Given the description of an element on the screen output the (x, y) to click on. 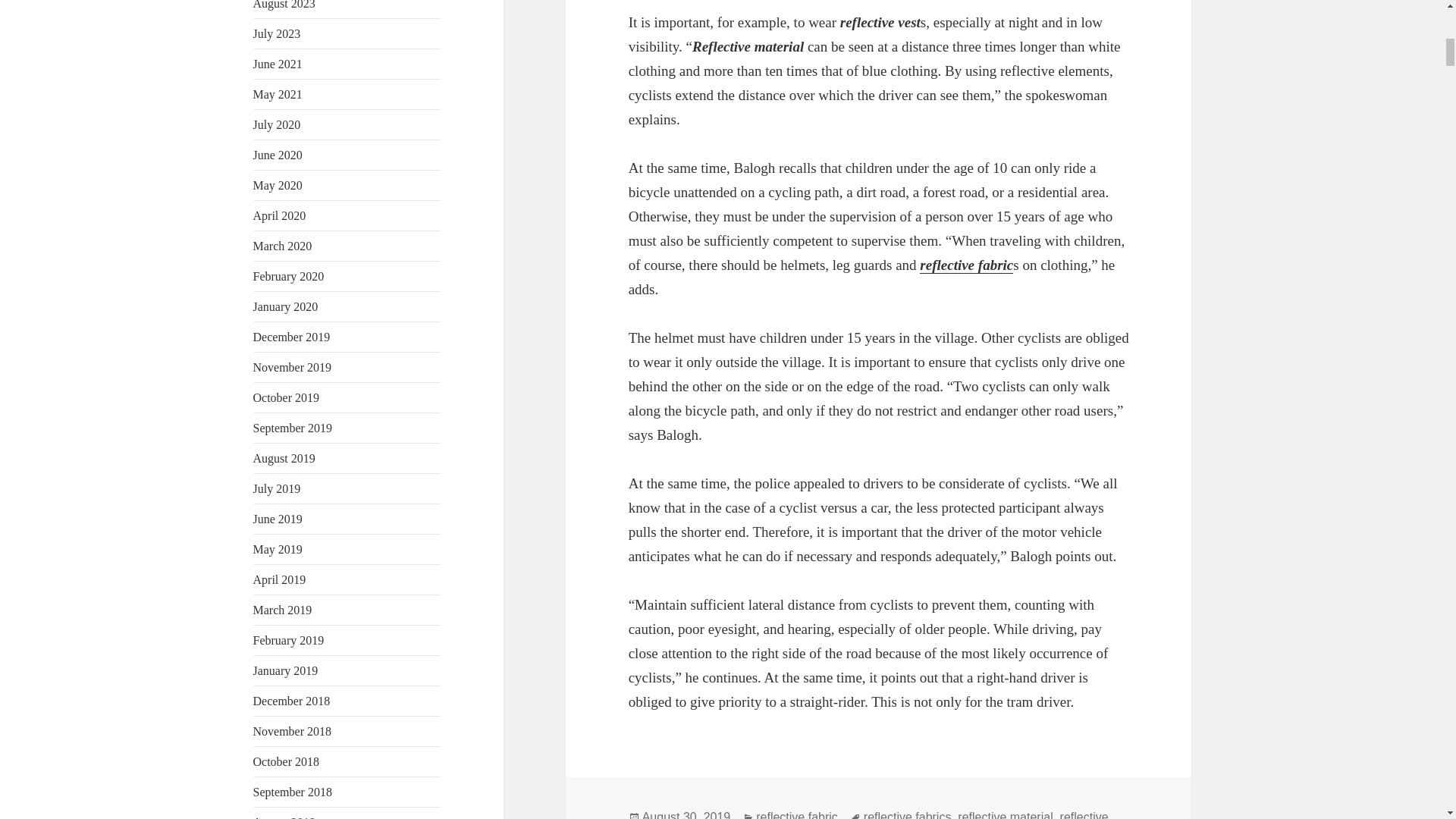
April 2019 (279, 579)
August 2019 (284, 458)
April 2020 (279, 215)
December 2018 (291, 700)
July 2023 (277, 33)
November 2018 (292, 730)
October 2019 (286, 397)
July 2019 (277, 488)
May 2021 (277, 93)
October 2018 (286, 761)
